Given the description of an element on the screen output the (x, y) to click on. 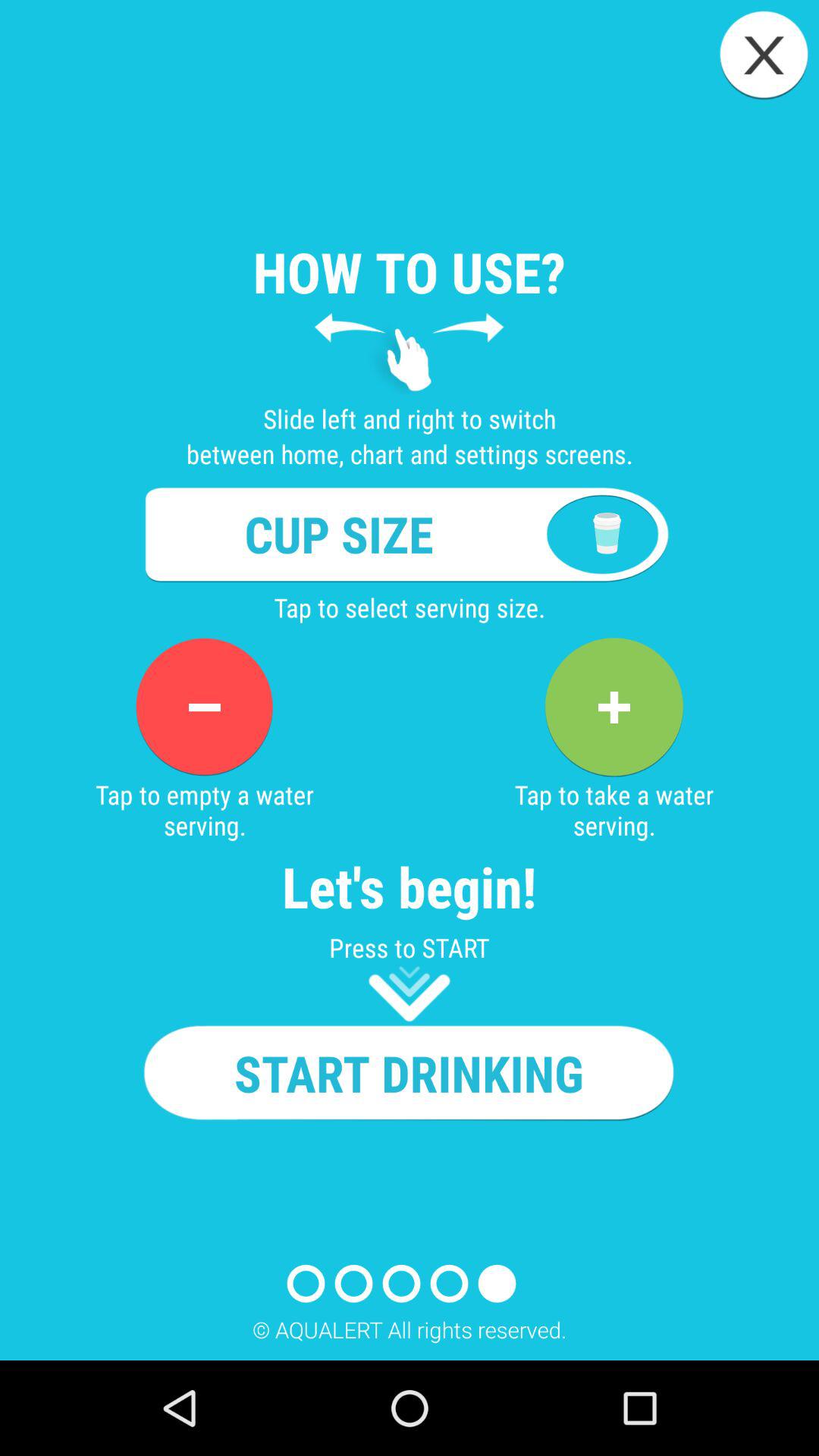
tap icon above how to use? app (763, 55)
